Given the description of an element on the screen output the (x, y) to click on. 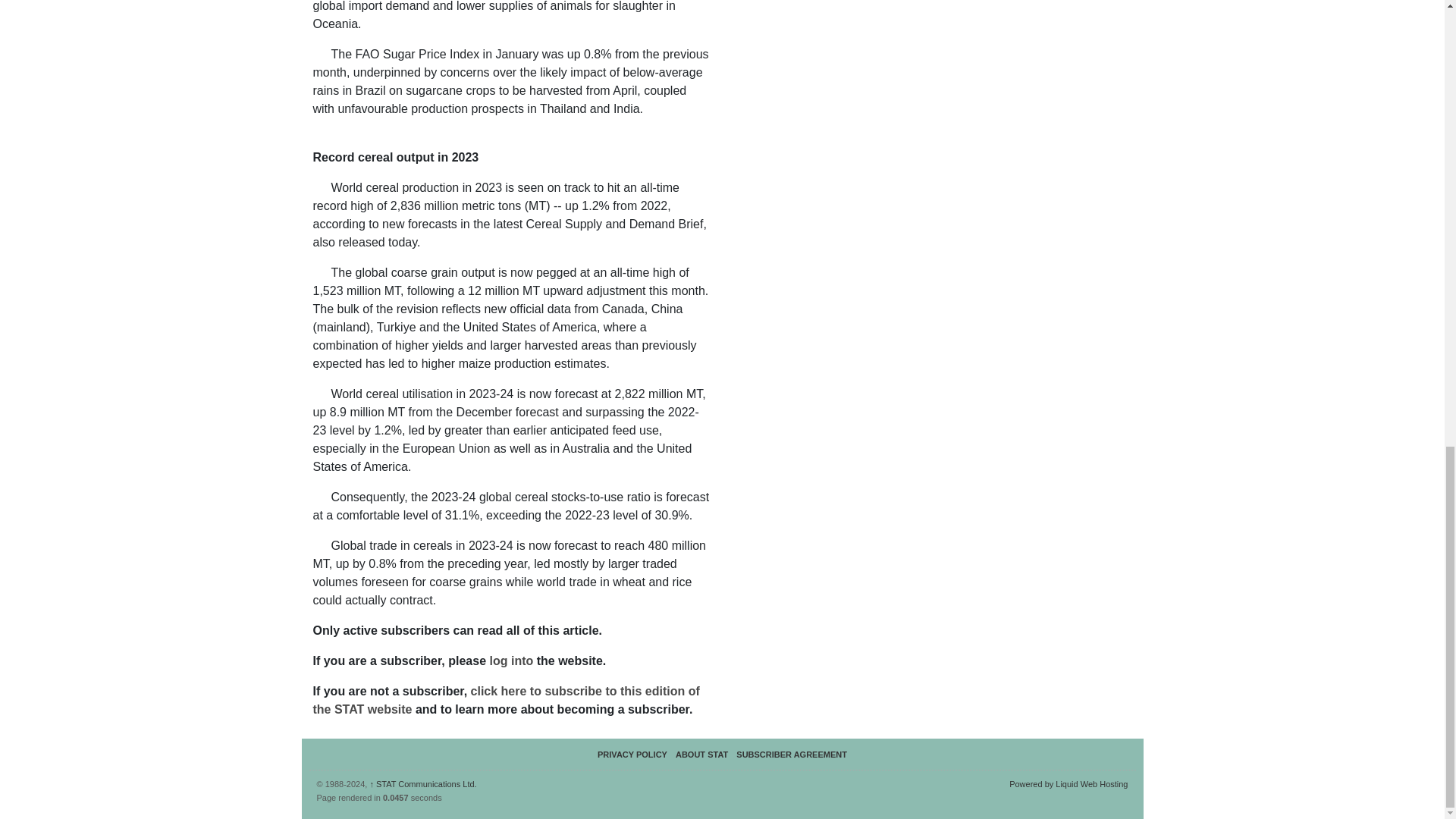
log into (513, 660)
PRIVACY POLICY (631, 754)
Liquid Web Fully Managed Web Hosting (1067, 783)
ABOUT STAT (701, 754)
SUBSCRIBER AGREEMENT (791, 754)
Powered by Liquid Web Hosting (1067, 783)
Patrick Brian Clancey and STAT Publishing Panama (422, 783)
click here to subscribe to this edition of the STAT website (505, 699)
